Given the description of an element on the screen output the (x, y) to click on. 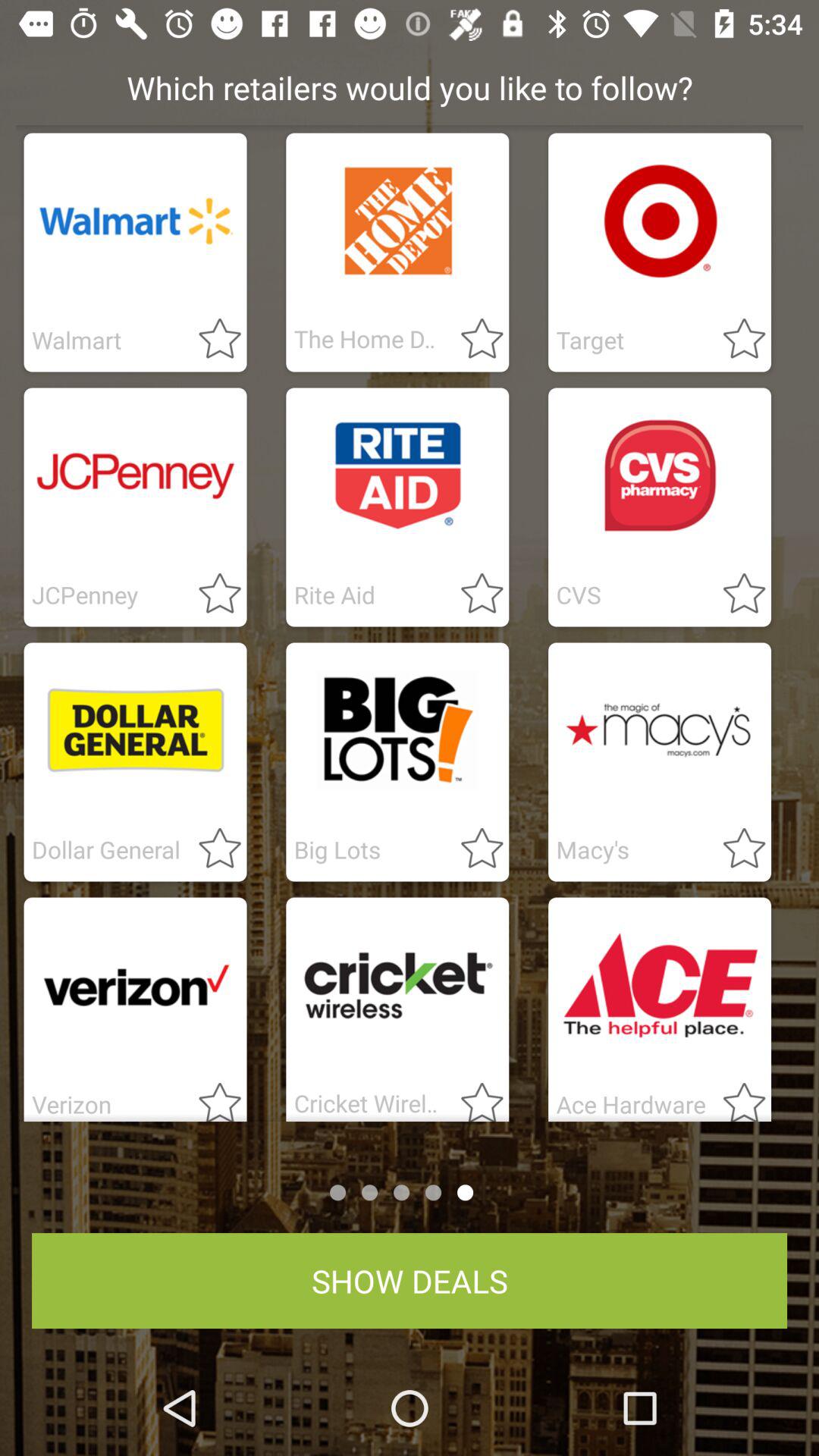
mark as favourite (735, 1096)
